Given the description of an element on the screen output the (x, y) to click on. 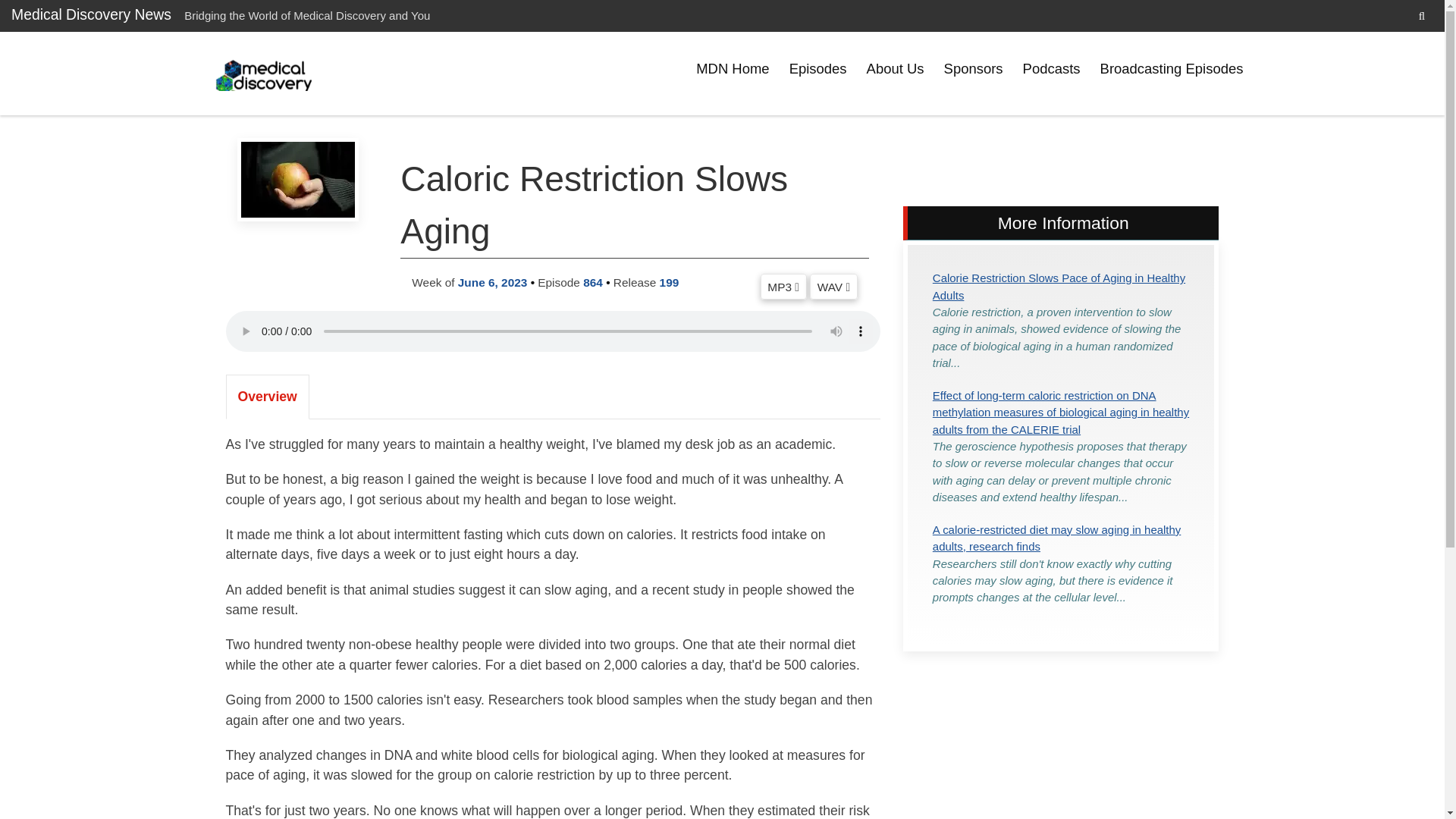
About Us (895, 68)
Overview (266, 396)
Podcasts (1051, 68)
Search (1420, 15)
864-aging (296, 179)
Medical Discovery News (91, 14)
The University of Texas Medical Branch (265, 73)
MDN Home (731, 68)
Broadcasting Episodes (1171, 68)
